Given the description of an element on the screen output the (x, y) to click on. 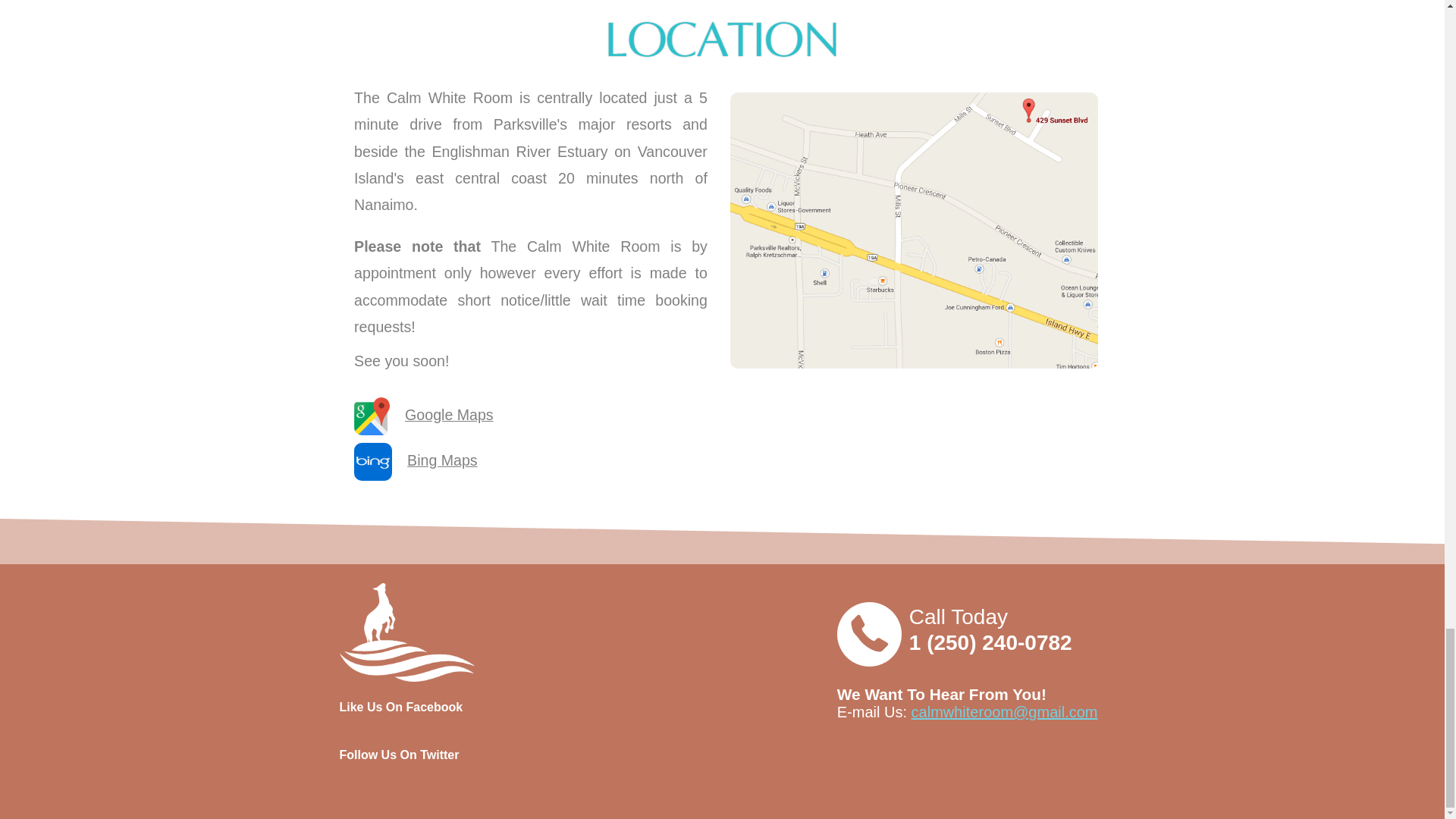
The Calm White Room - 429 Sunset Blvd, Parksville, BC (913, 230)
Bing Maps (442, 460)
Google Maps (448, 414)
